Given the description of an element on the screen output the (x, y) to click on. 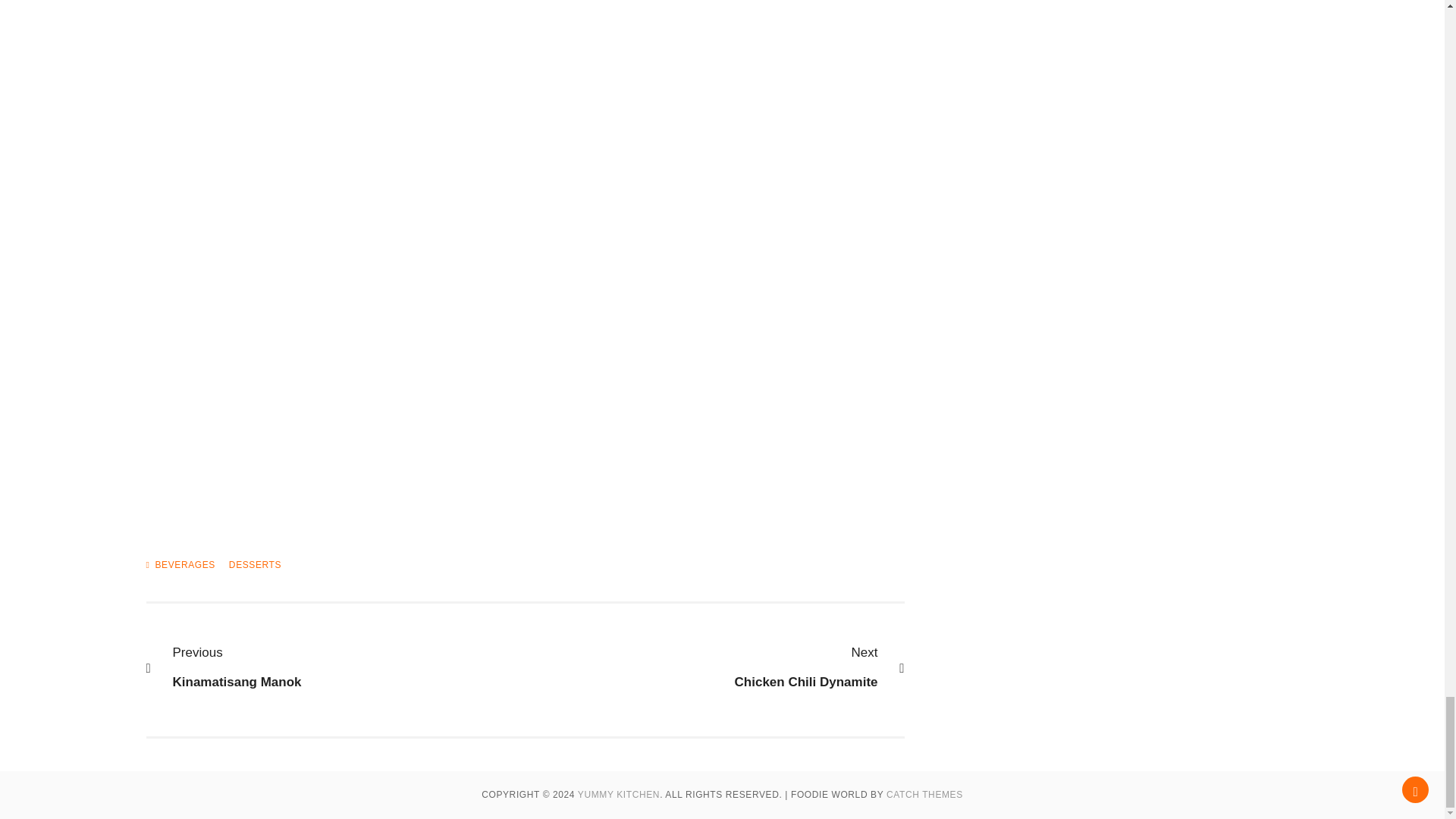
BEVERAGES (184, 563)
DESSERTS (344, 667)
